Given the description of an element on the screen output the (x, y) to click on. 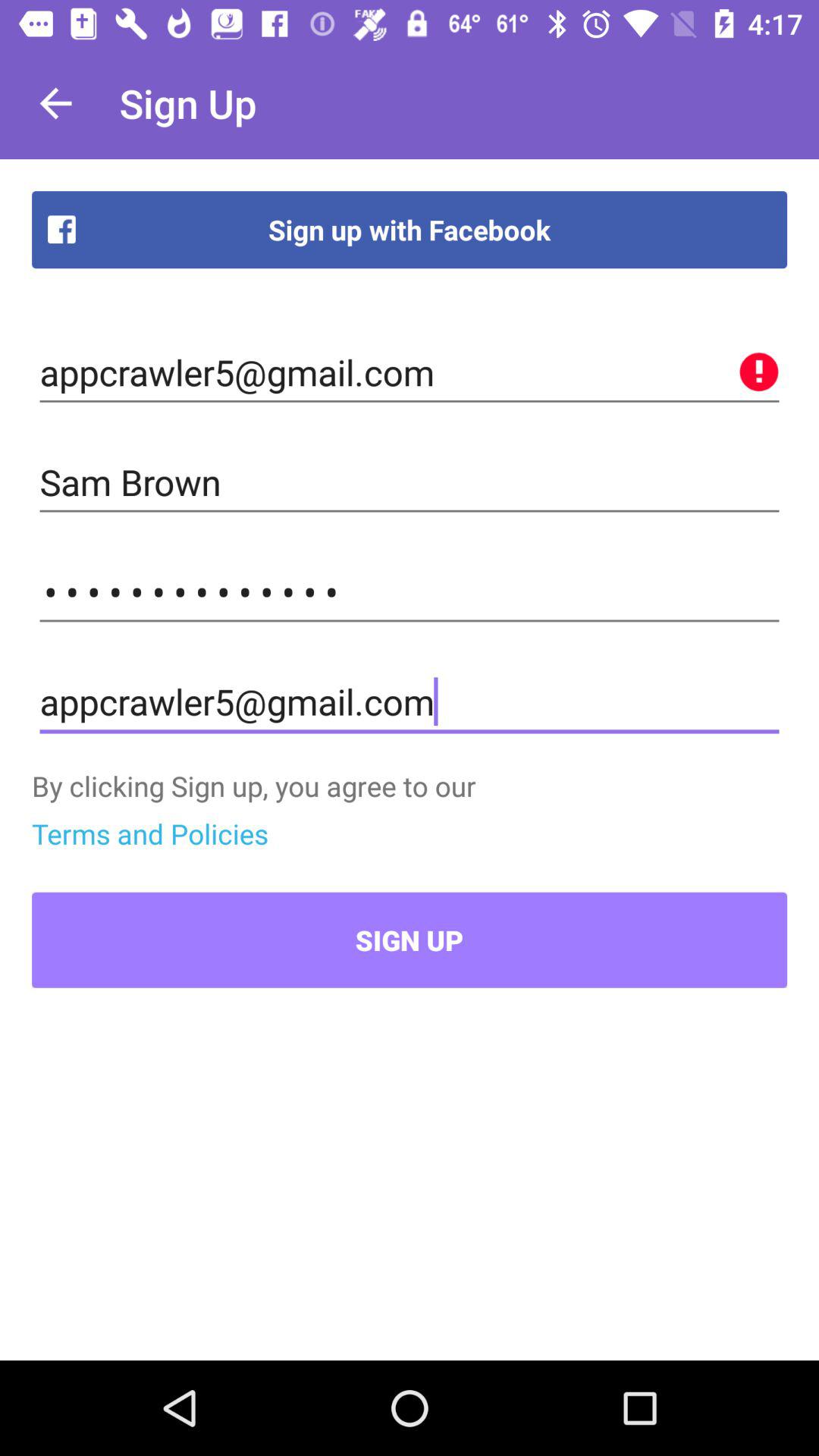
select the icon below by clicking sign icon (149, 833)
